Given the description of an element on the screen output the (x, y) to click on. 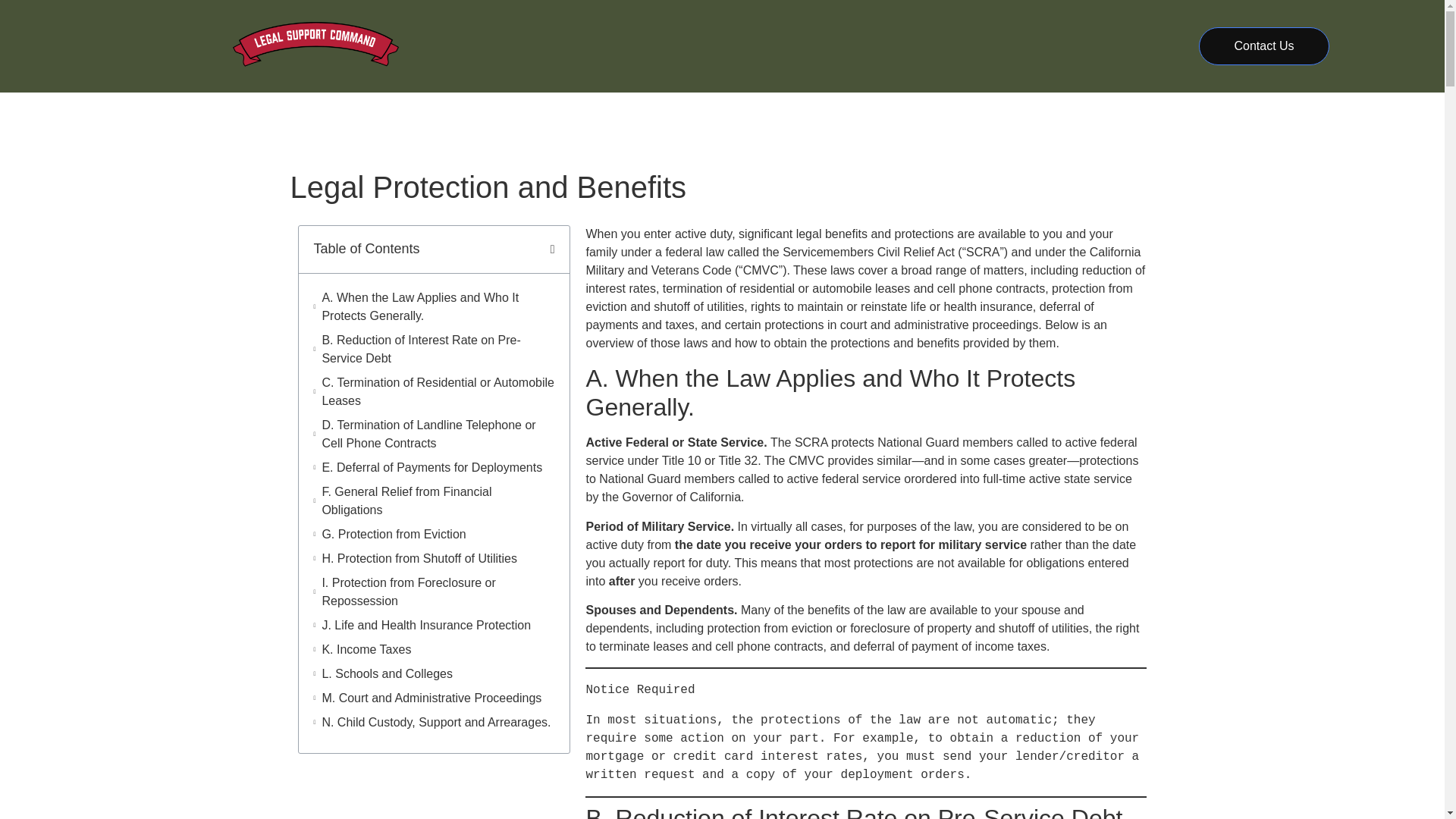
A. When the Law Applies and Who It Protects Generally. (437, 307)
I. Protection from Foreclosure or Repossession (437, 592)
Contact Us (1262, 46)
B. Reduction of Interest Rate on Pre-Service Debt (437, 349)
D. Termination of Landline Telephone or Cell Phone Contracts (437, 434)
F. General Relief from Financial Obligations (437, 501)
C. Termination of Residential or Automobile Leases (437, 391)
L. Schools and Colleges (386, 674)
N. Child Custody, Support and Arrearages. (435, 722)
G. Protection from Eviction (393, 534)
